Given the description of an element on the screen output the (x, y) to click on. 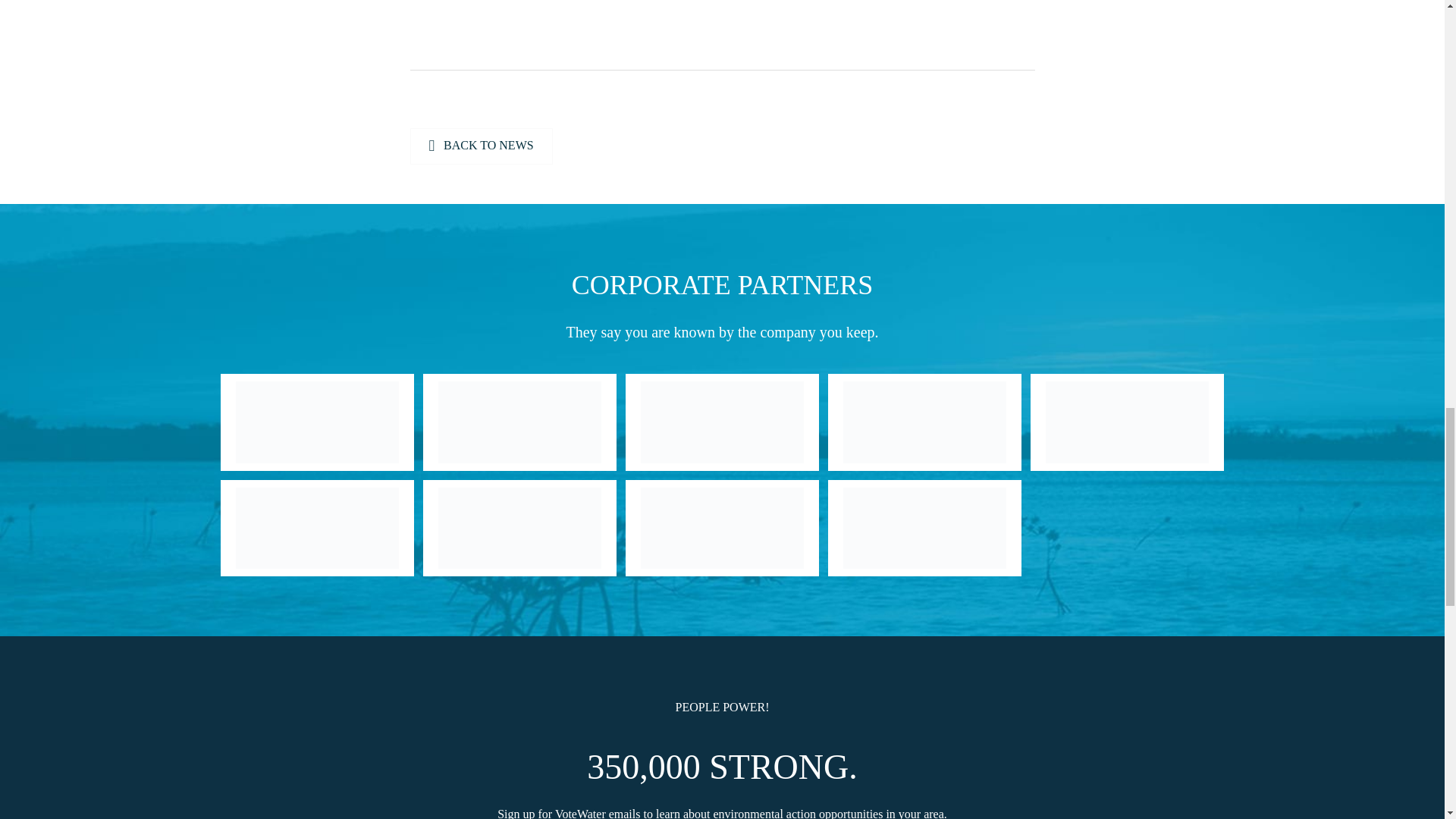
logo-hlm (721, 422)
logo-affta (315, 422)
logo-florida-sportsman (519, 422)
go-media-logo (721, 528)
logo-fko (519, 528)
logo-patagonia (1126, 422)
logo-raymond-james (315, 528)
logo-orvis (924, 422)
BACK TO NEWS (480, 145)
